Given the description of an element on the screen output the (x, y) to click on. 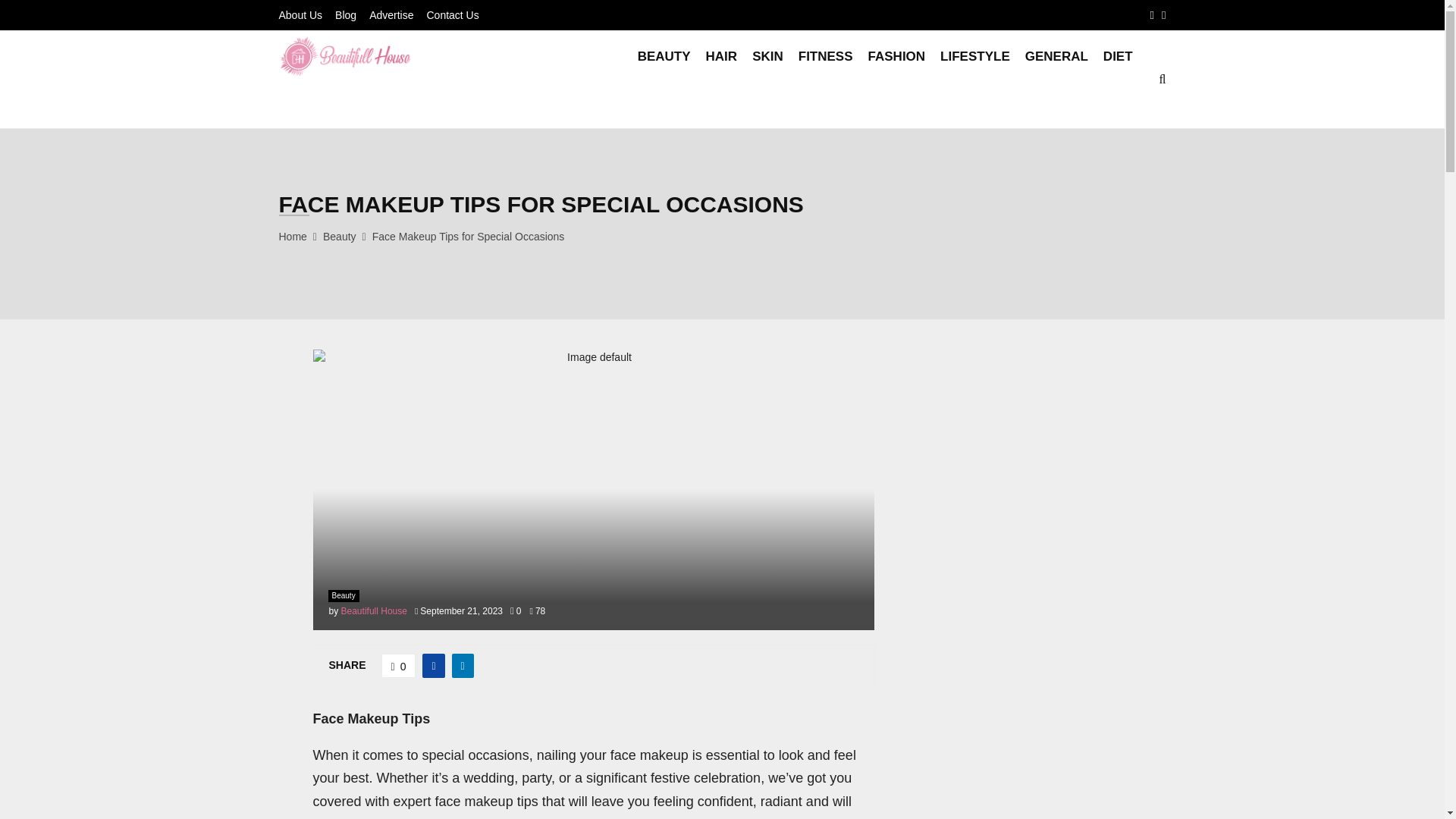
Contact Us (452, 15)
LIFESTYLE (975, 79)
Beautifull House (373, 611)
SKIN (767, 79)
DIET (1117, 79)
Blog (345, 15)
Beauty (342, 595)
Beauty (339, 236)
0 (516, 611)
FASHION (896, 79)
Facebook (1152, 15)
Like (398, 665)
FITNESS (825, 79)
BEAUTY (663, 79)
GENERAL (1056, 79)
